Given the description of an element on the screen output the (x, y) to click on. 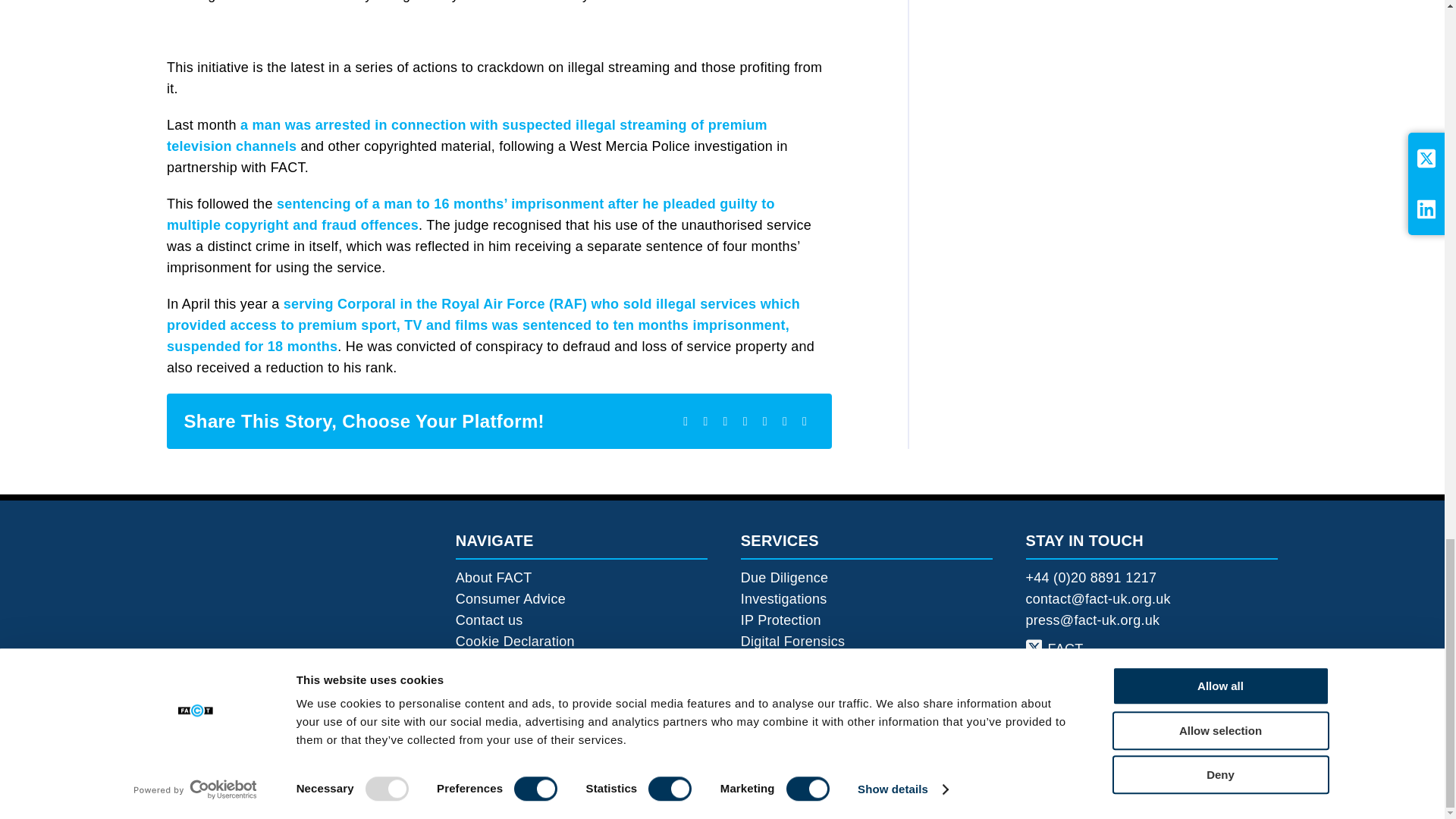
Reddit (725, 421)
X (704, 421)
LinkedIn (745, 421)
WhatsApp (764, 421)
Facebook (685, 421)
